Given the description of an element on the screen output the (x, y) to click on. 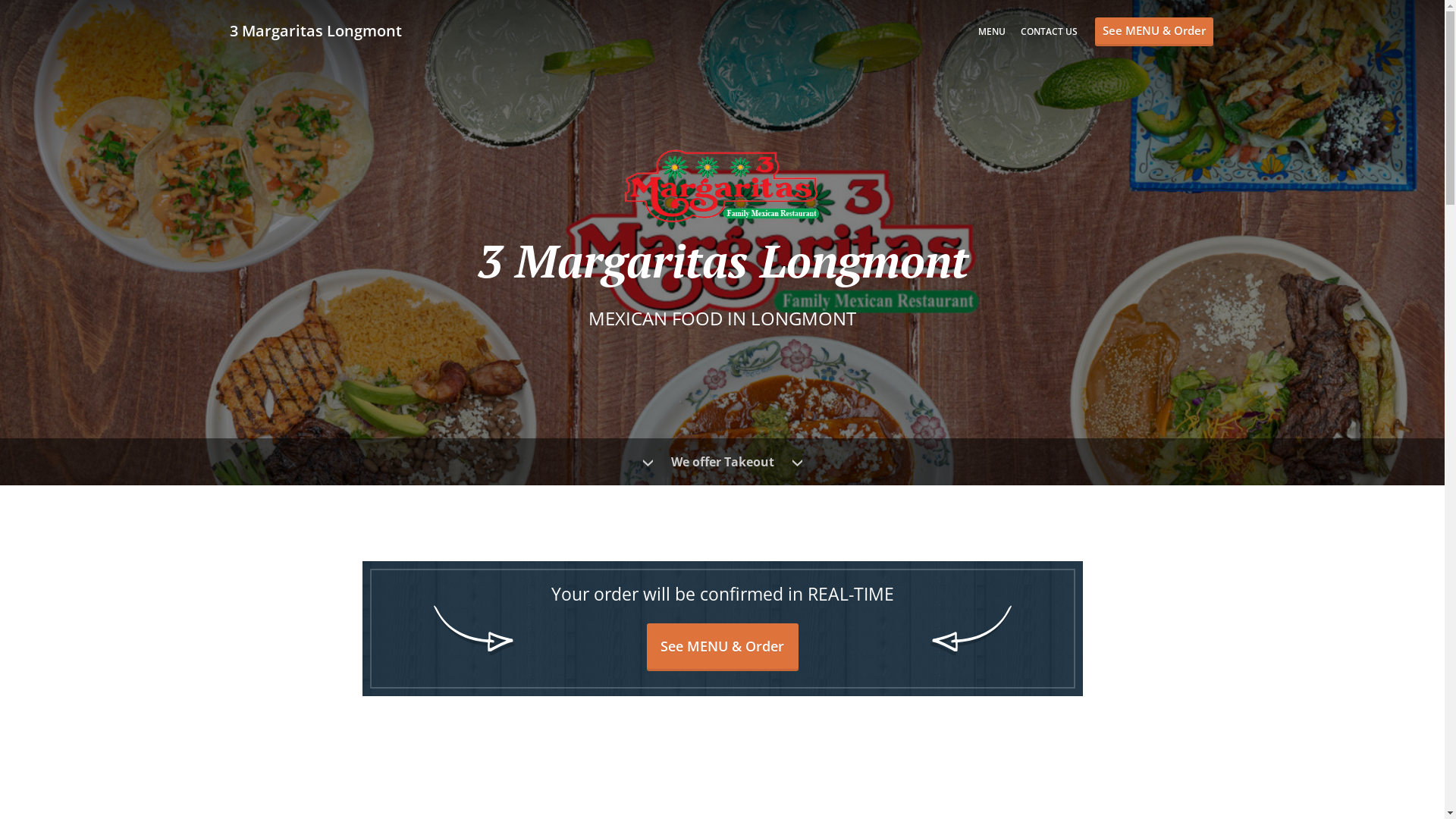
CONTACT US Element type: text (1048, 31)
3 Margaritas Longmont Element type: text (322, 30)
MENU Element type: text (991, 31)
